Given the description of an element on the screen output the (x, y) to click on. 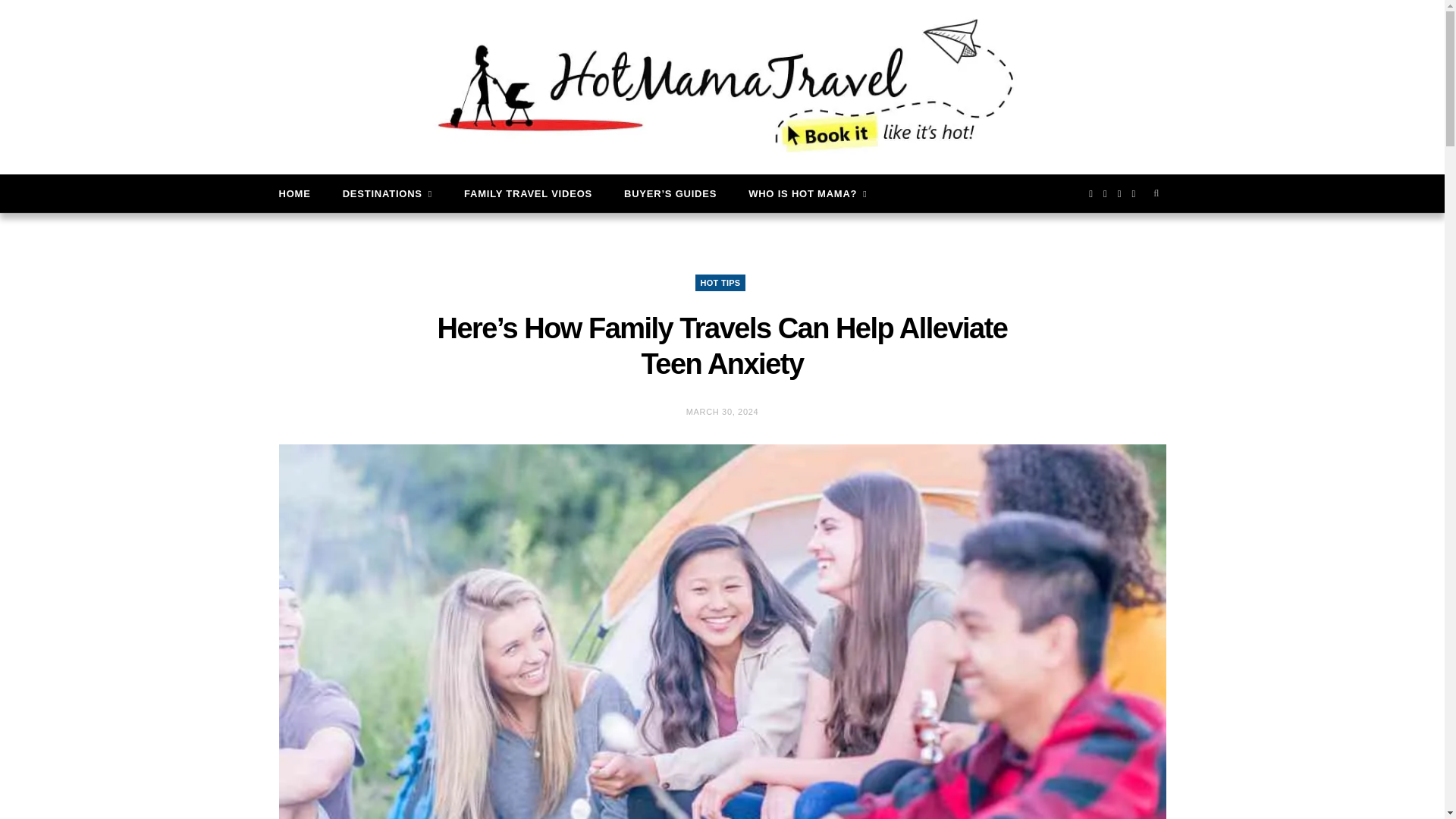
DESTINATIONS (387, 193)
HOME (294, 193)
MARCH 30, 2024 (721, 411)
WHO IS HOT MAMA? (807, 193)
HOT TIPS (720, 282)
FAMILY TRAVEL VIDEOS (528, 193)
